Given the description of an element on the screen output the (x, y) to click on. 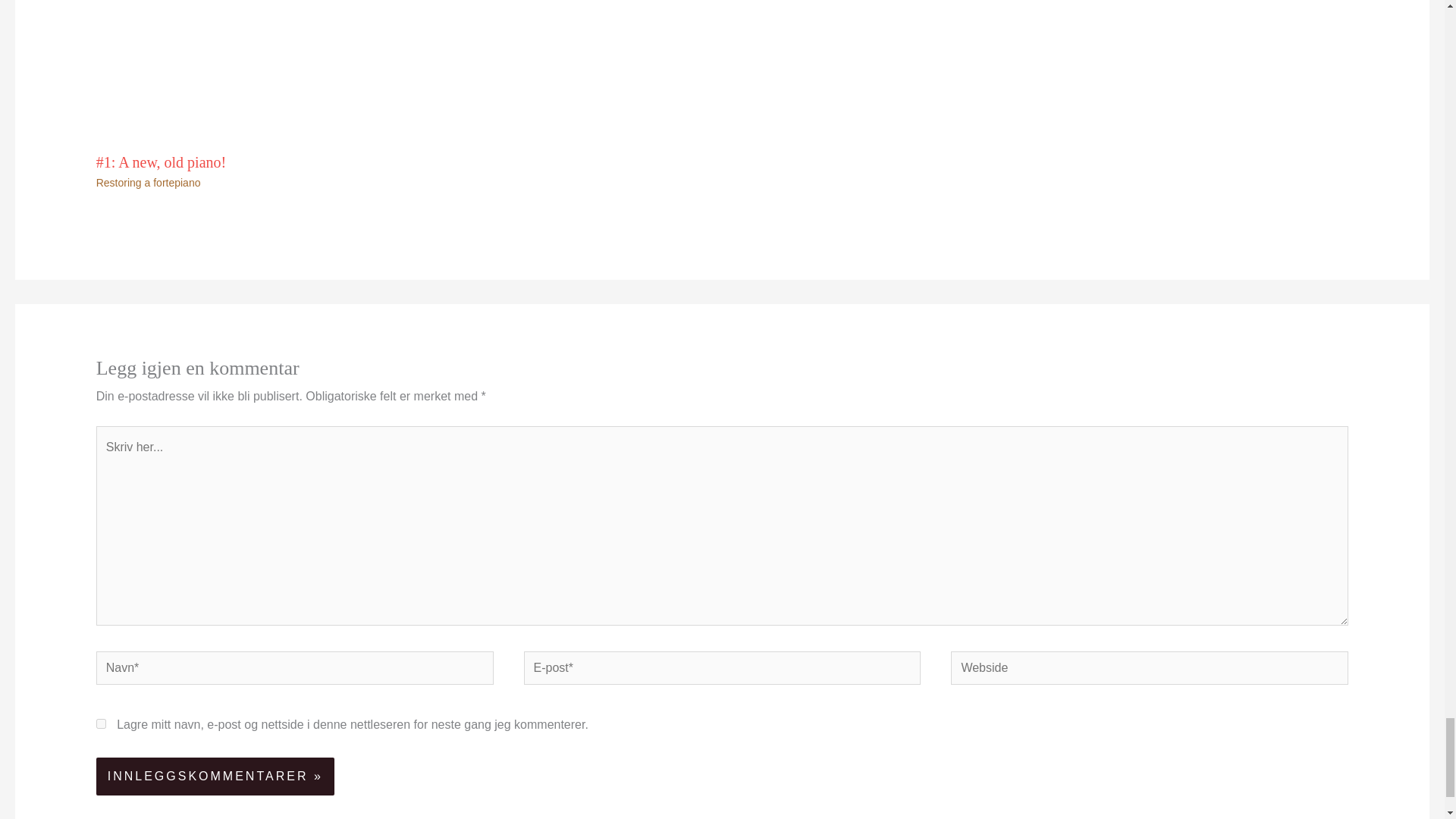
yes (101, 723)
